Given the description of an element on the screen output the (x, y) to click on. 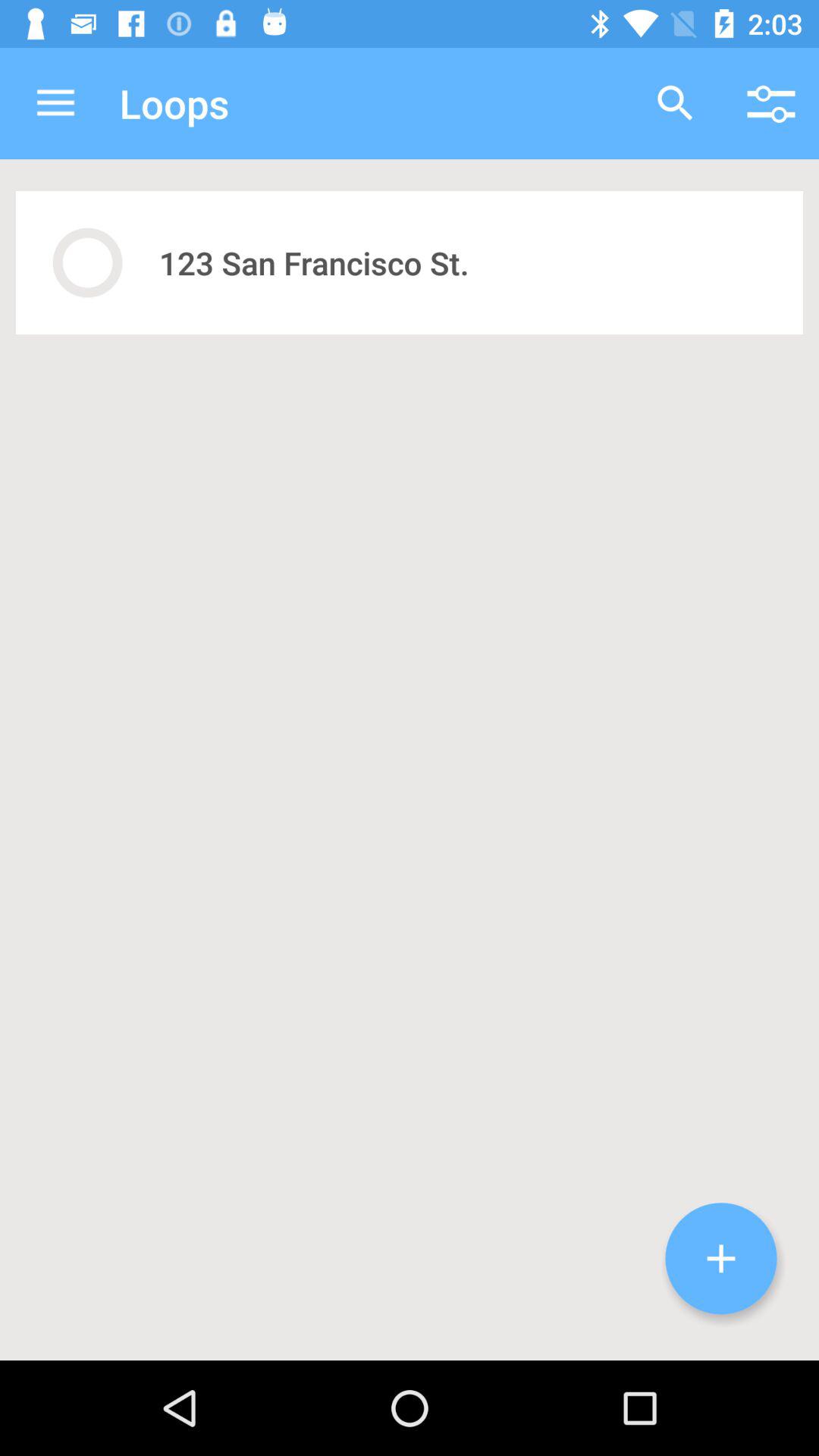
press icon next to loops (55, 103)
